Given the description of an element on the screen output the (x, y) to click on. 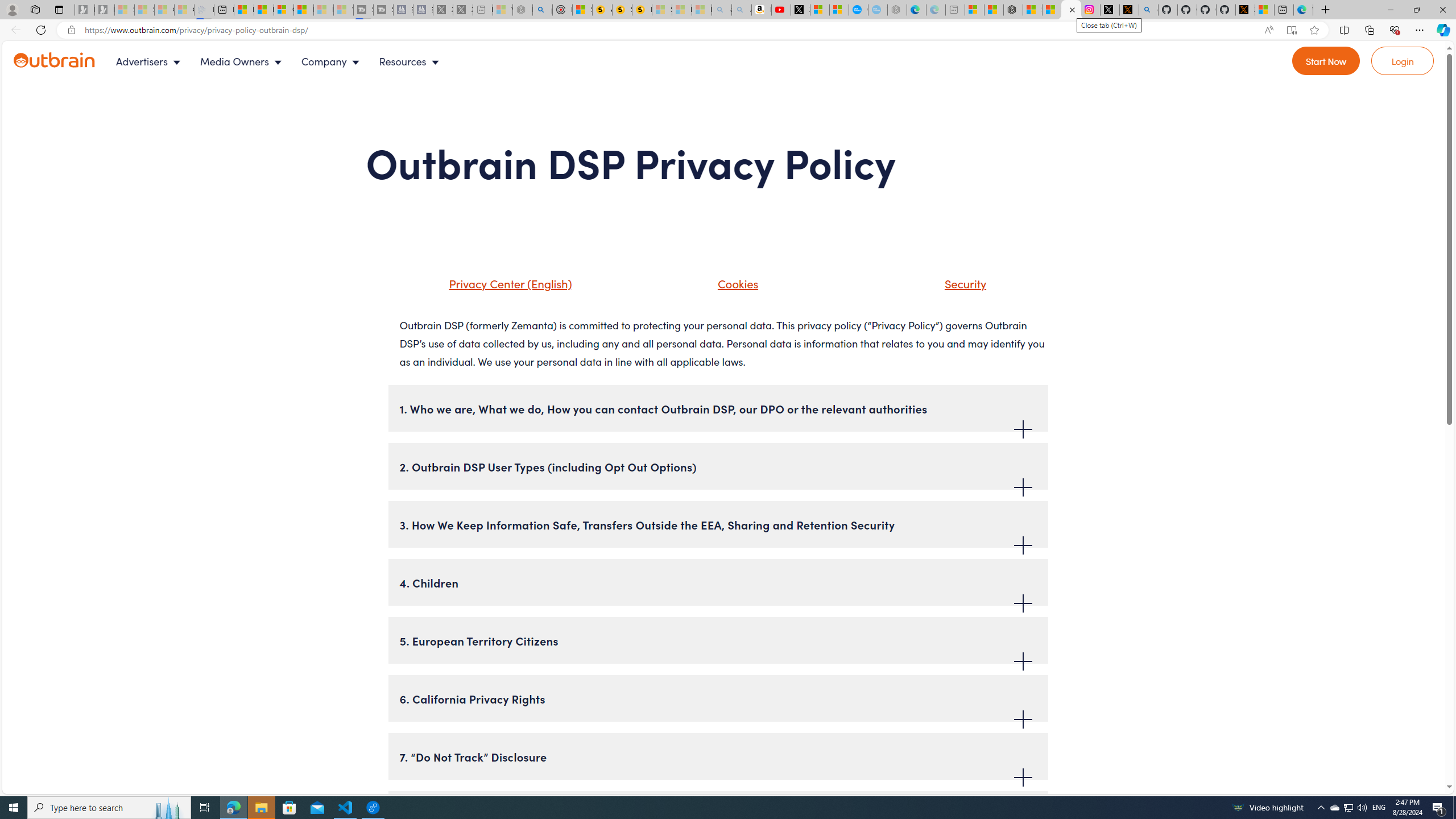
Log in to X / X (1109, 9)
The most popular Google 'how to' searches - Sleeping (877, 9)
X - Sleeping (462, 9)
Streaming Coverage | T3 - Sleeping (362, 9)
github - Search (1148, 9)
Shanghai, China Weather trends | Microsoft Weather (1050, 9)
